Given the description of an element on the screen output the (x, y) to click on. 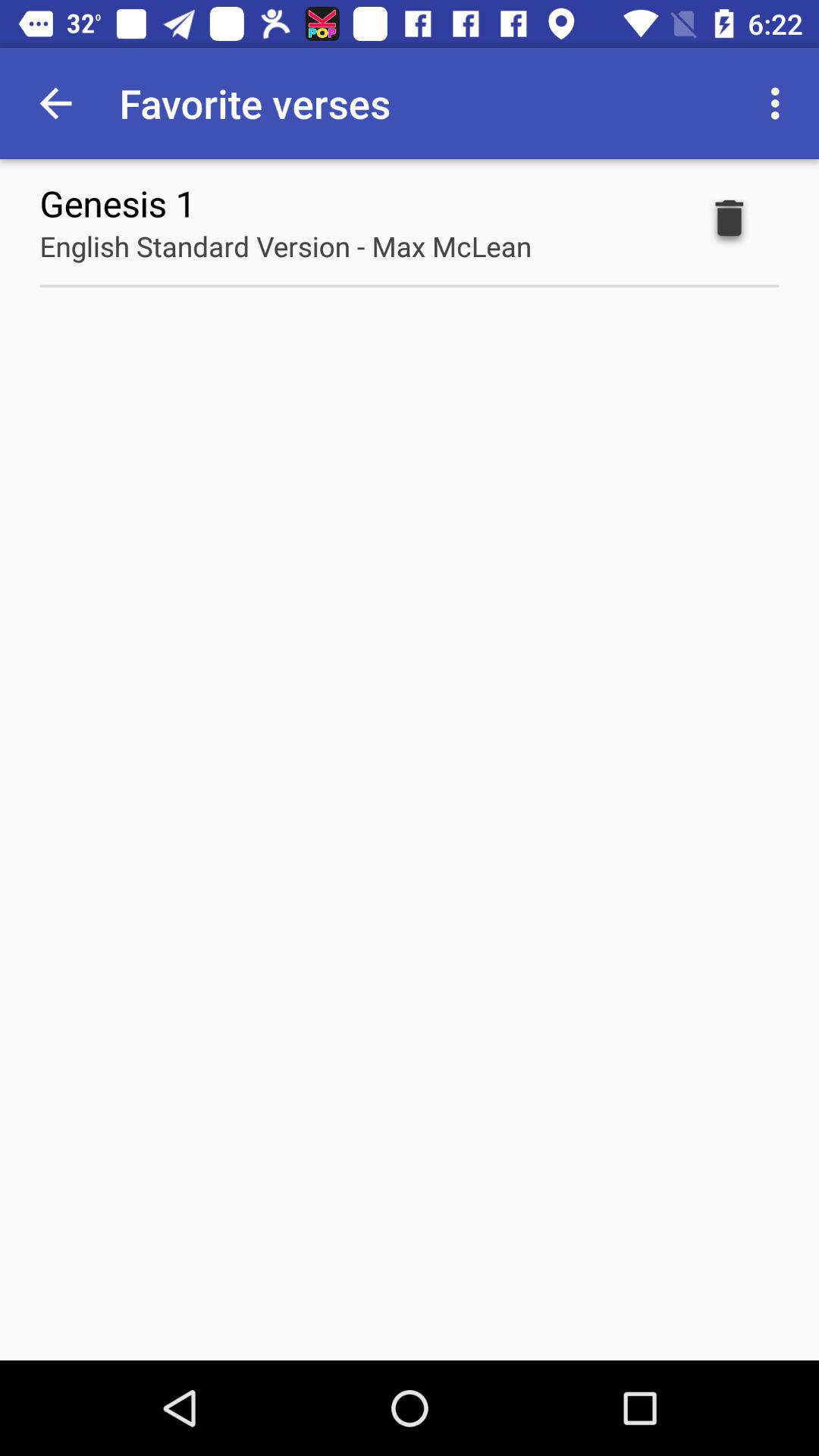
click icon above english standard version (117, 203)
